Given the description of an element on the screen output the (x, y) to click on. 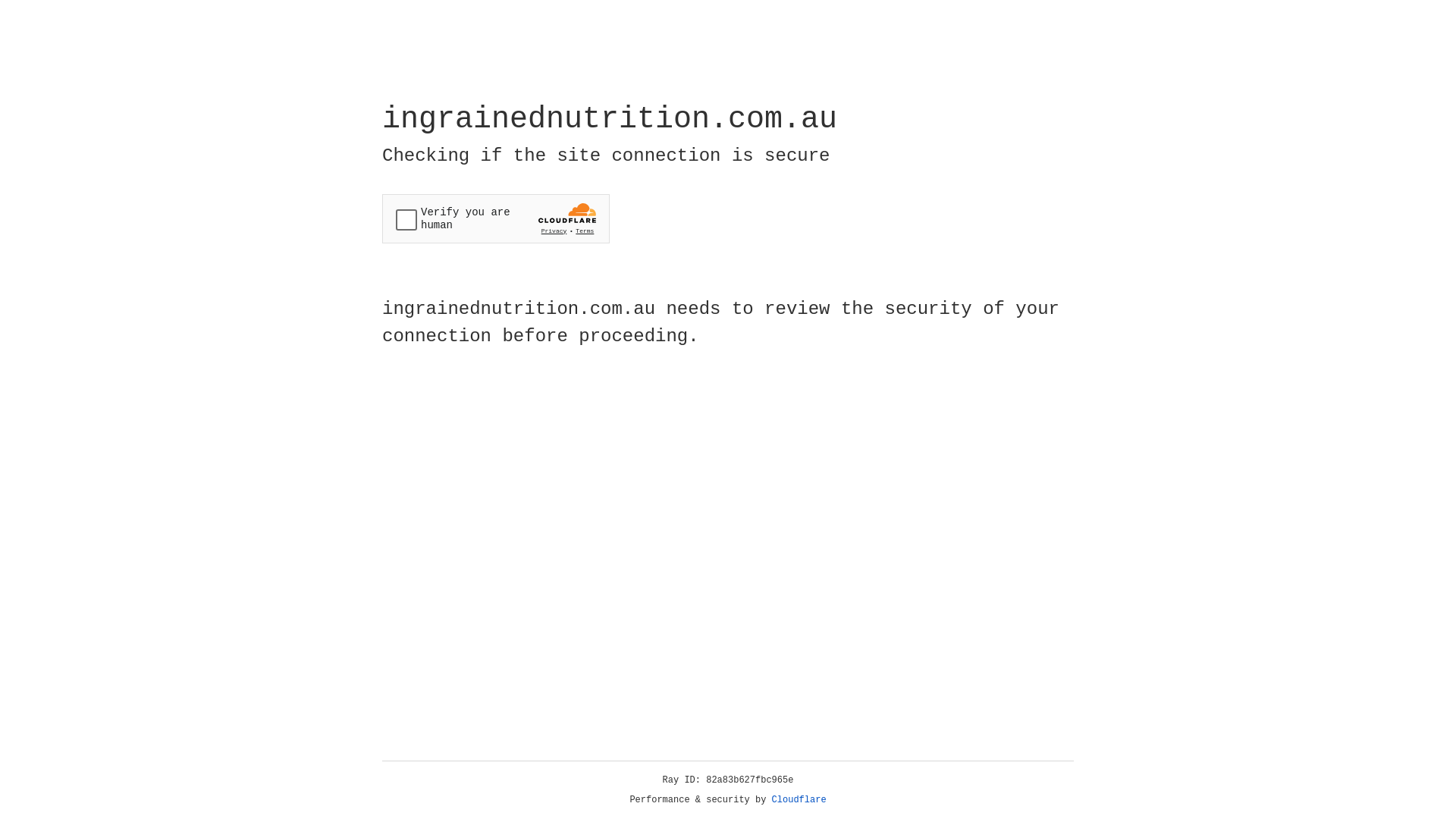
Widget containing a Cloudflare security challenge Element type: hover (495, 218)
Cloudflare Element type: text (798, 799)
